Given the description of an element on the screen output the (x, y) to click on. 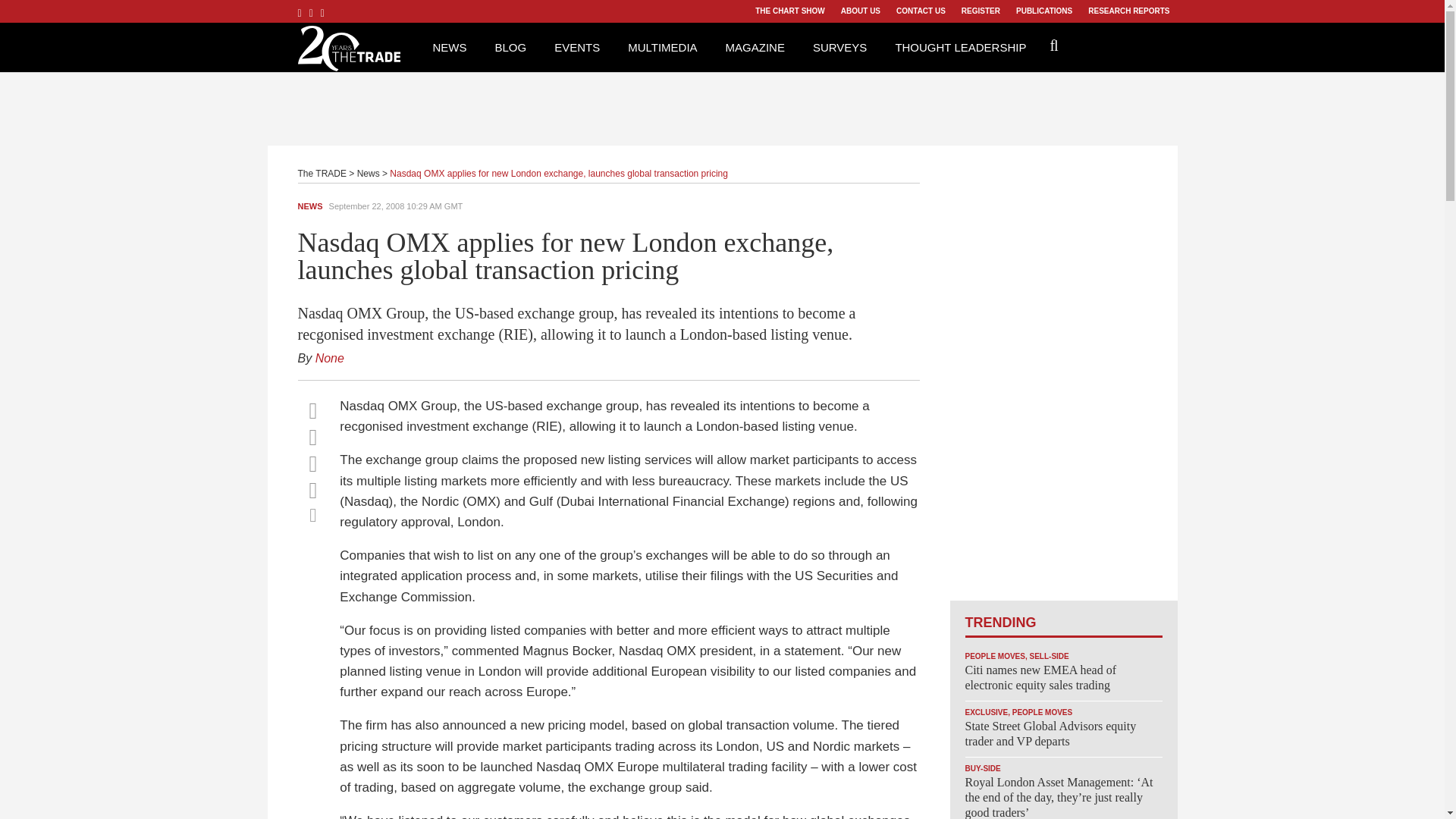
CONTACT US (920, 11)
ABOUT US (860, 11)
Go to the News Category archives. (368, 173)
Go to The TRADE. (321, 173)
PUBLICATIONS (1043, 11)
THE CHART SHOW (789, 11)
3rd party ad content (722, 106)
REGISTER (980, 11)
